Given the description of an element on the screen output the (x, y) to click on. 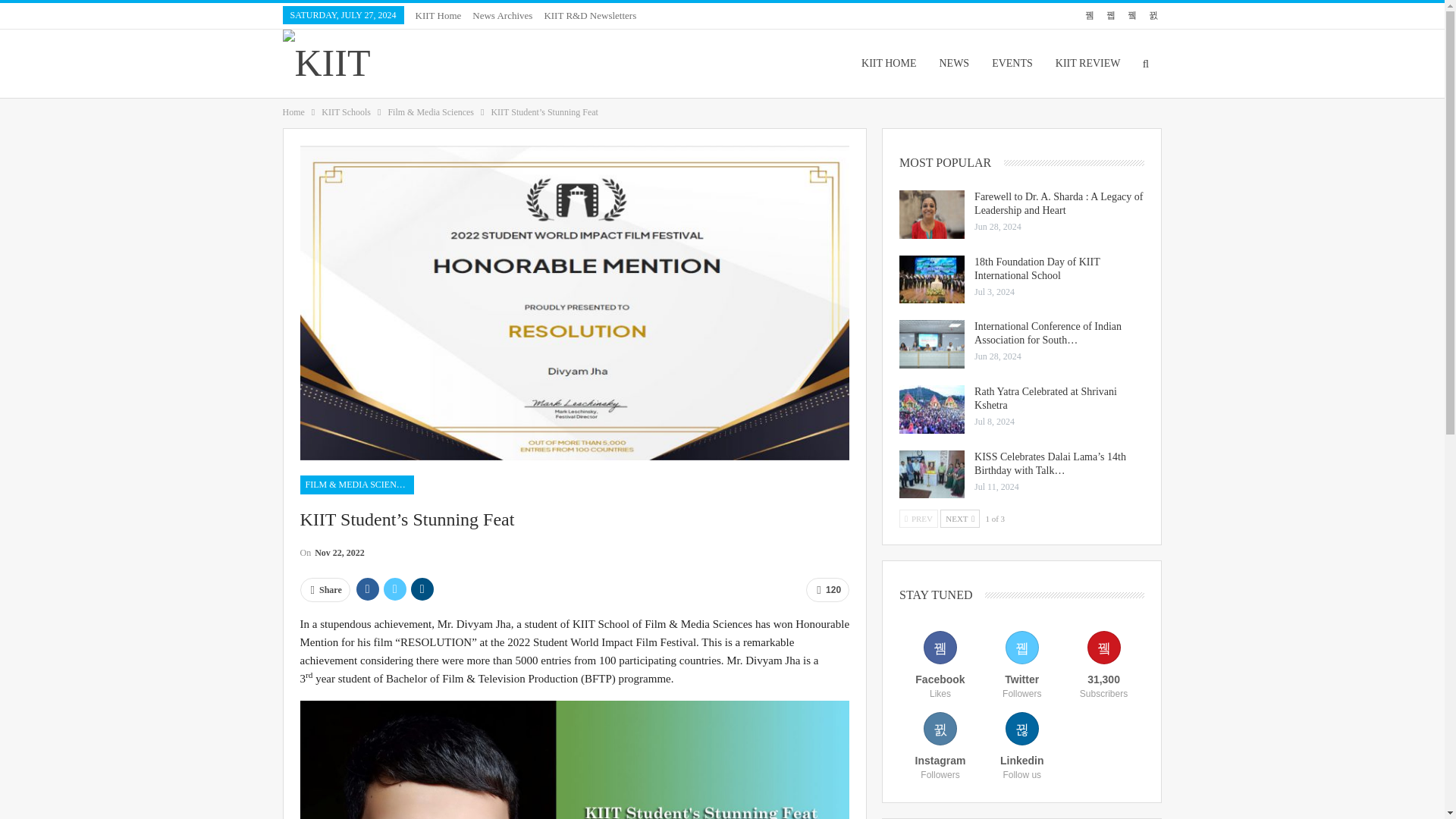
Farewell to Dr. A. Sharda : A Legacy of Leadership and Heart (931, 214)
Home (293, 112)
KIIT Home (437, 15)
EVENTS (1011, 63)
KIIT Schools (346, 112)
KIIT REVIEW (1087, 63)
18th Foundation Day of KIIT International School (931, 279)
KIIT HOME (888, 63)
News Archives (501, 15)
